Given the description of an element on the screen output the (x, y) to click on. 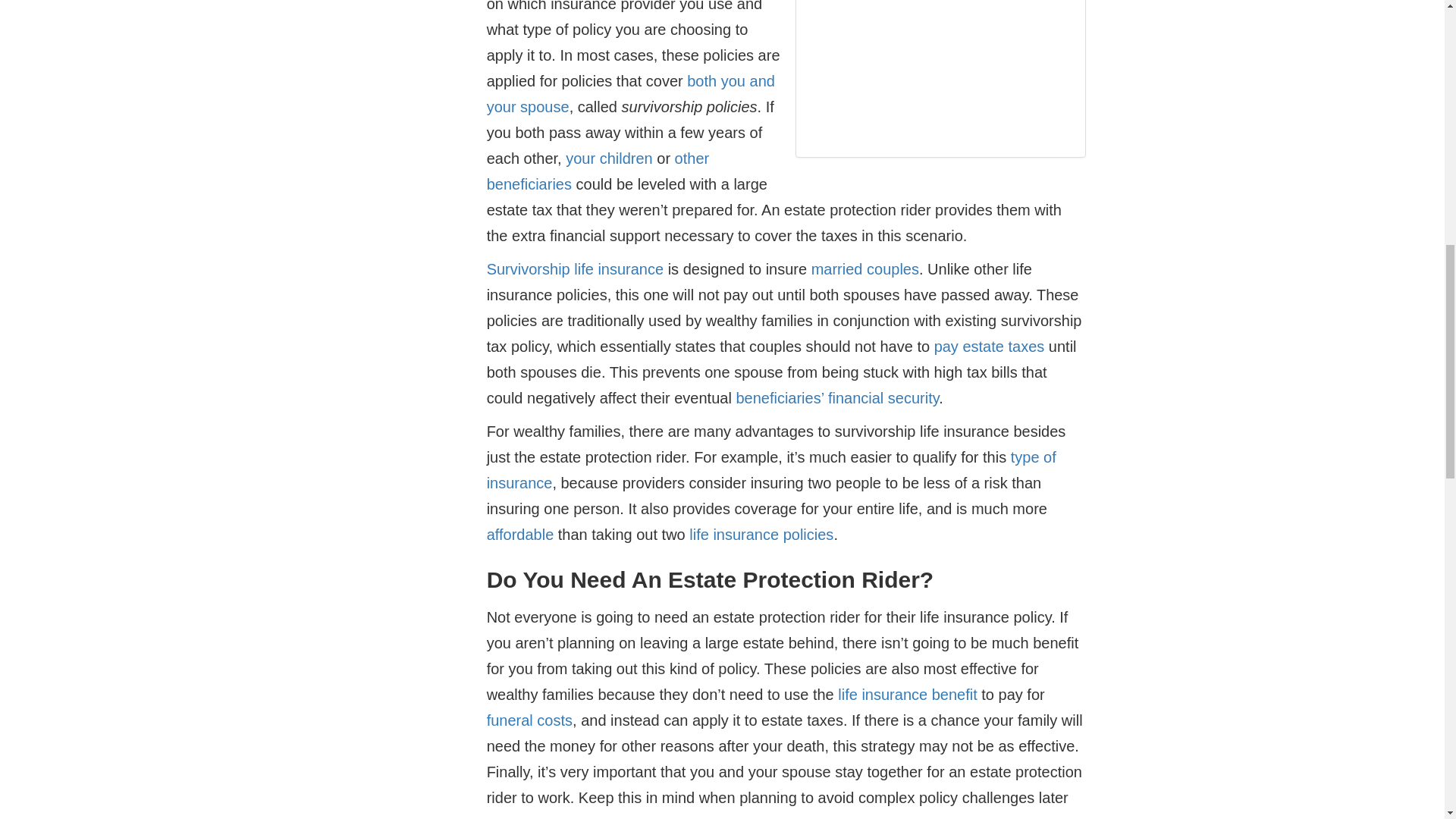
both you and your spouse (630, 93)
your children (609, 158)
married couples (864, 269)
other beneficiaries (598, 170)
type of insurance (771, 469)
life insurance benefit (907, 694)
life insurance policies (760, 534)
Survivorship life insurance (574, 269)
affordable (520, 534)
pay estate taxes (989, 346)
